Given the description of an element on the screen output the (x, y) to click on. 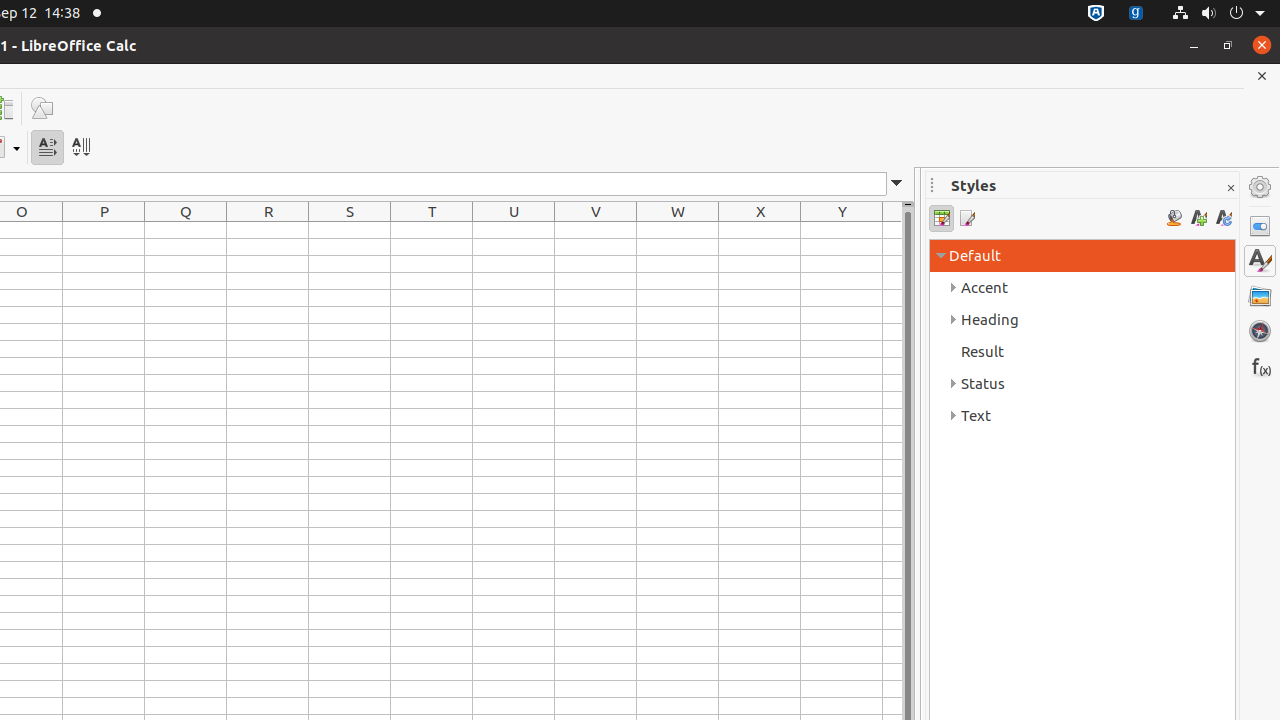
Y1 Element type: table-cell (842, 230)
Update Style Element type: push-button (1223, 218)
R1 Element type: table-cell (268, 230)
S1 Element type: table-cell (350, 230)
Text direction from left to right Element type: toggle-button (47, 147)
